Given the description of an element on the screen output the (x, y) to click on. 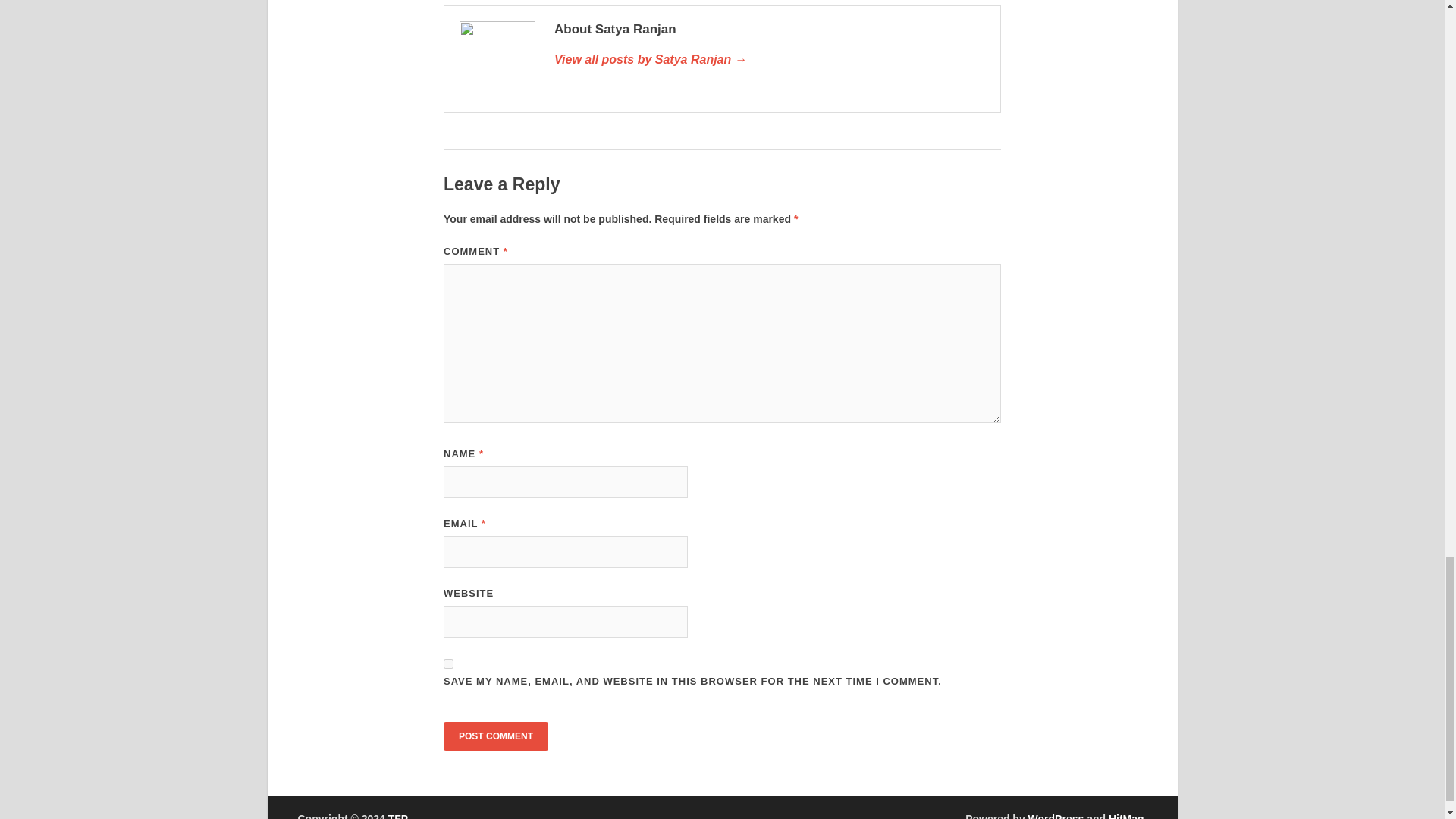
Satya Ranjan (769, 59)
Post Comment (496, 736)
Post Comment (496, 736)
yes (448, 664)
